Given the description of an element on the screen output the (x, y) to click on. 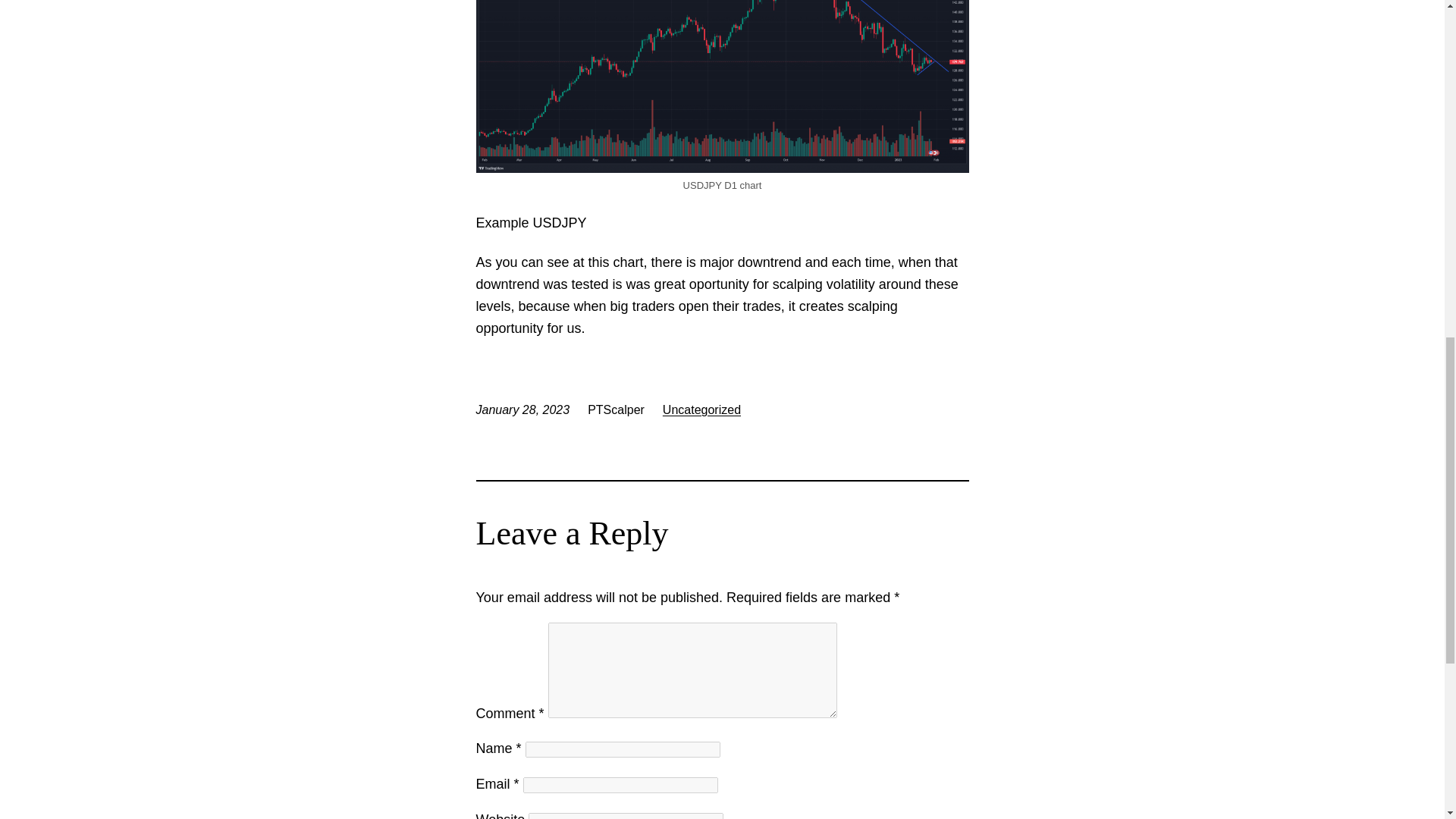
Uncategorized (701, 409)
